Given the description of an element on the screen output the (x, y) to click on. 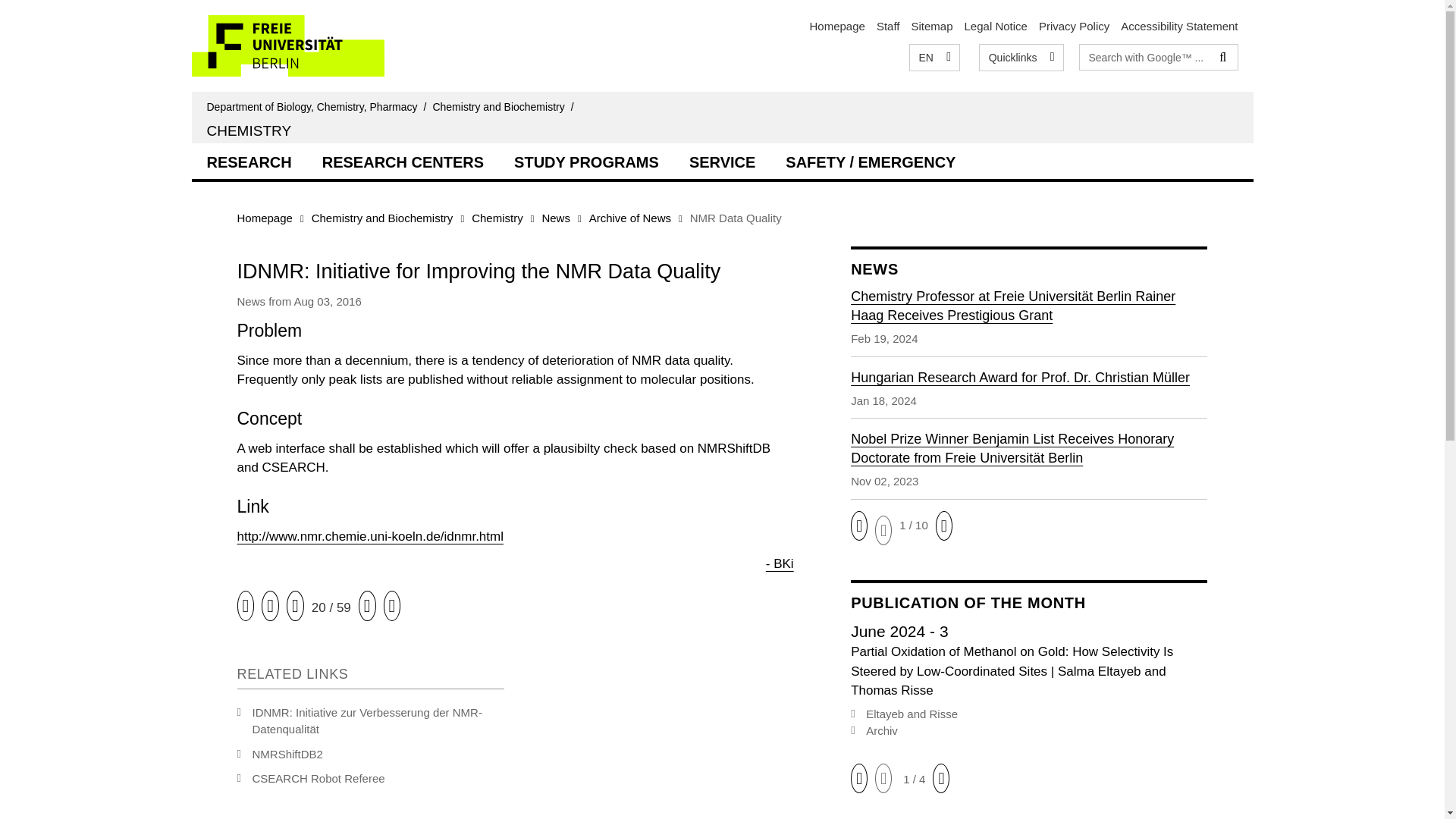
Accessibility Statement (1179, 25)
Staff (887, 25)
Privacy Policy (1074, 25)
Homepage (836, 25)
Legal Notice (995, 25)
Sitemap (931, 25)
